Given the description of an element on the screen output the (x, y) to click on. 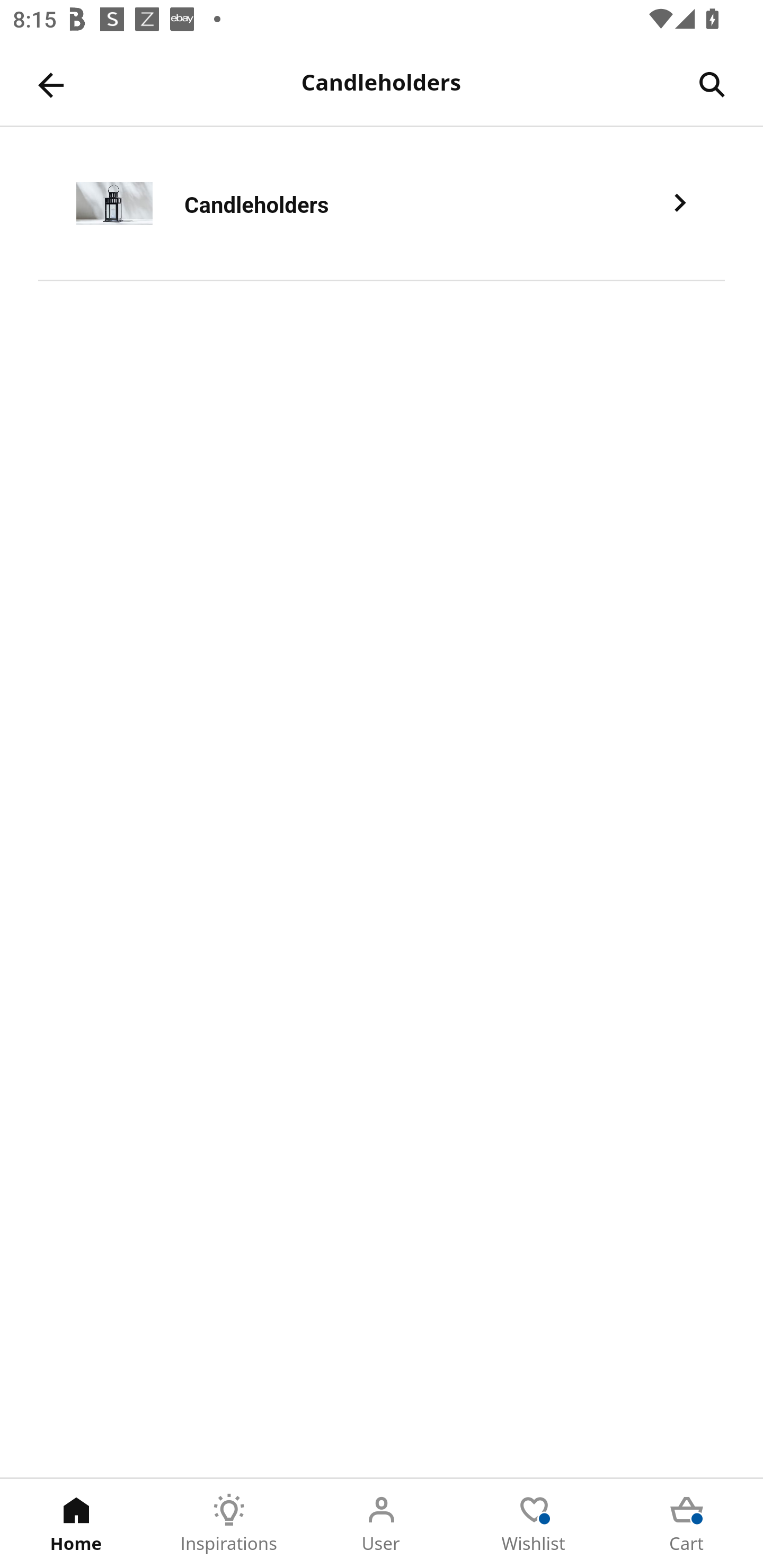
Candleholders (381, 203)
Home
Tab 1 of 5 (76, 1522)
Inspirations
Tab 2 of 5 (228, 1522)
User
Tab 3 of 5 (381, 1522)
Wishlist
Tab 4 of 5 (533, 1522)
Cart
Tab 5 of 5 (686, 1522)
